Given the description of an element on the screen output the (x, y) to click on. 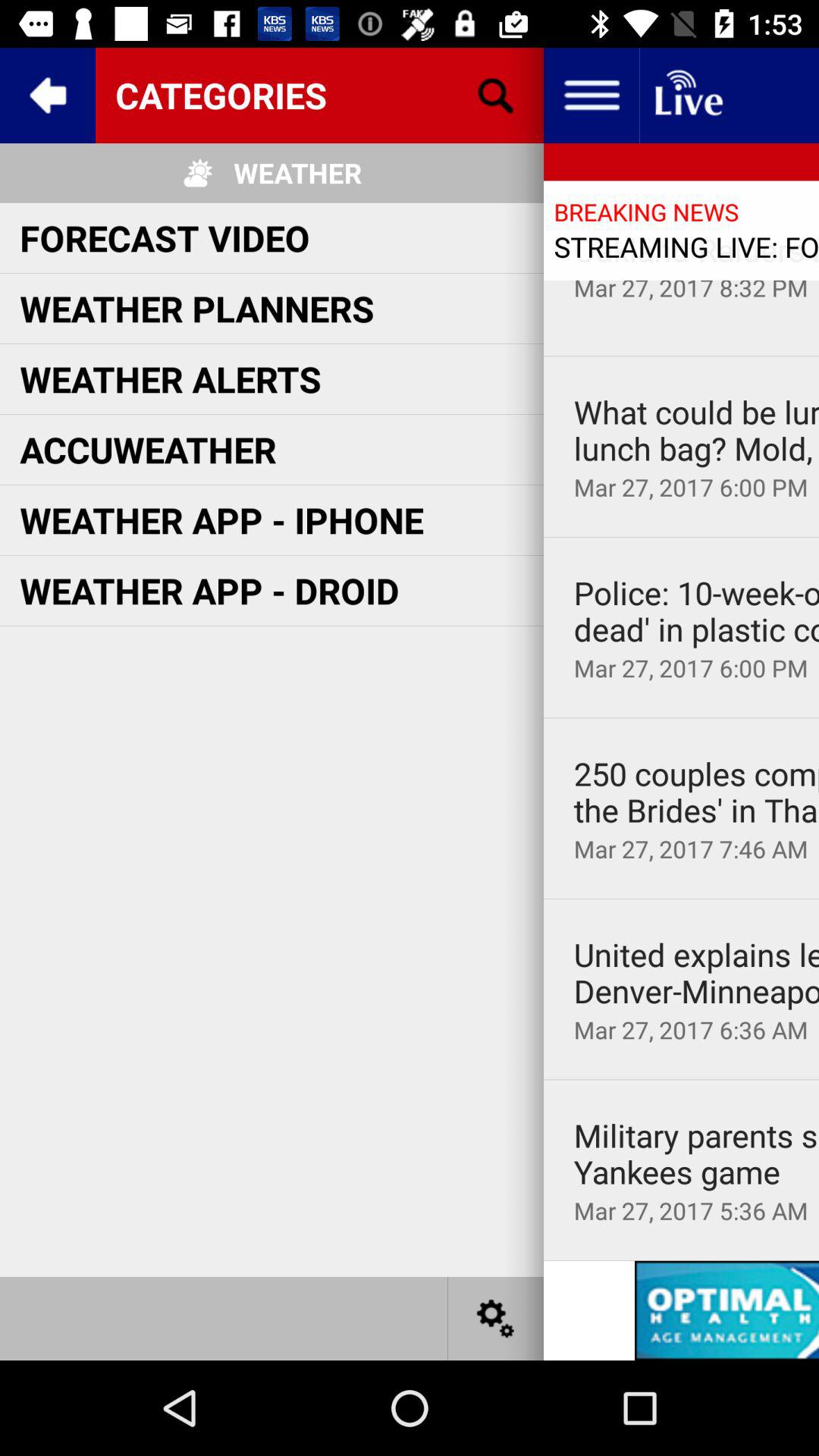
launch app below mar 27 2017 (681, 536)
